Given the description of an element on the screen output the (x, y) to click on. 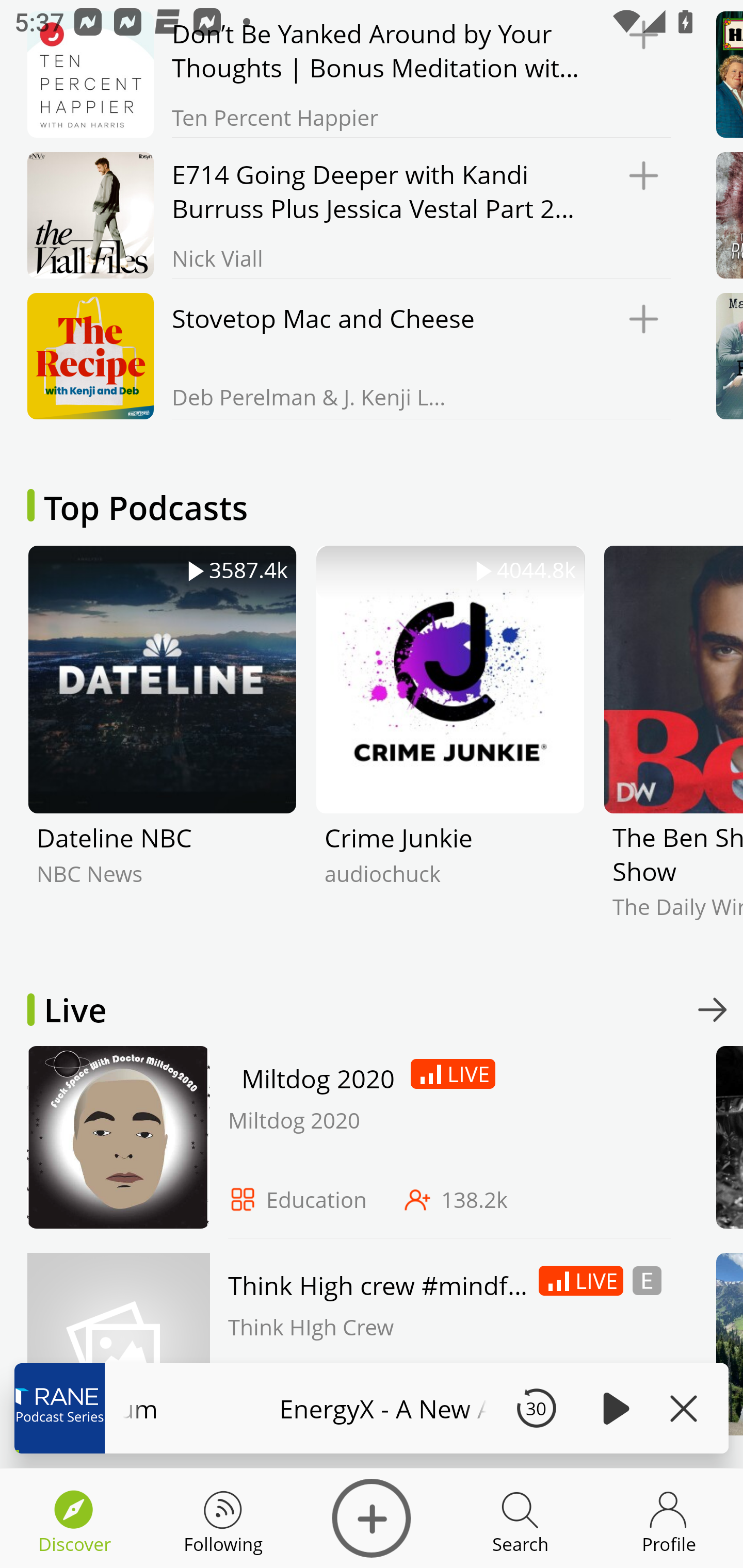
3587.4k Dateline NBC NBC News (162, 747)
4044.8k Crime Junkie audiochuck (450, 747)
The Ben Shapiro Show The Daily Wire (673, 747)
  Miltdog 2020  LIVE Miltdog 2020 Education 138.2k (344, 1141)
Play (613, 1407)
30 Seek Backward (536, 1407)
Discover Following (222, 1518)
Discover (371, 1518)
Discover Search (519, 1518)
Discover Profile (668, 1518)
